Given the description of an element on the screen output the (x, y) to click on. 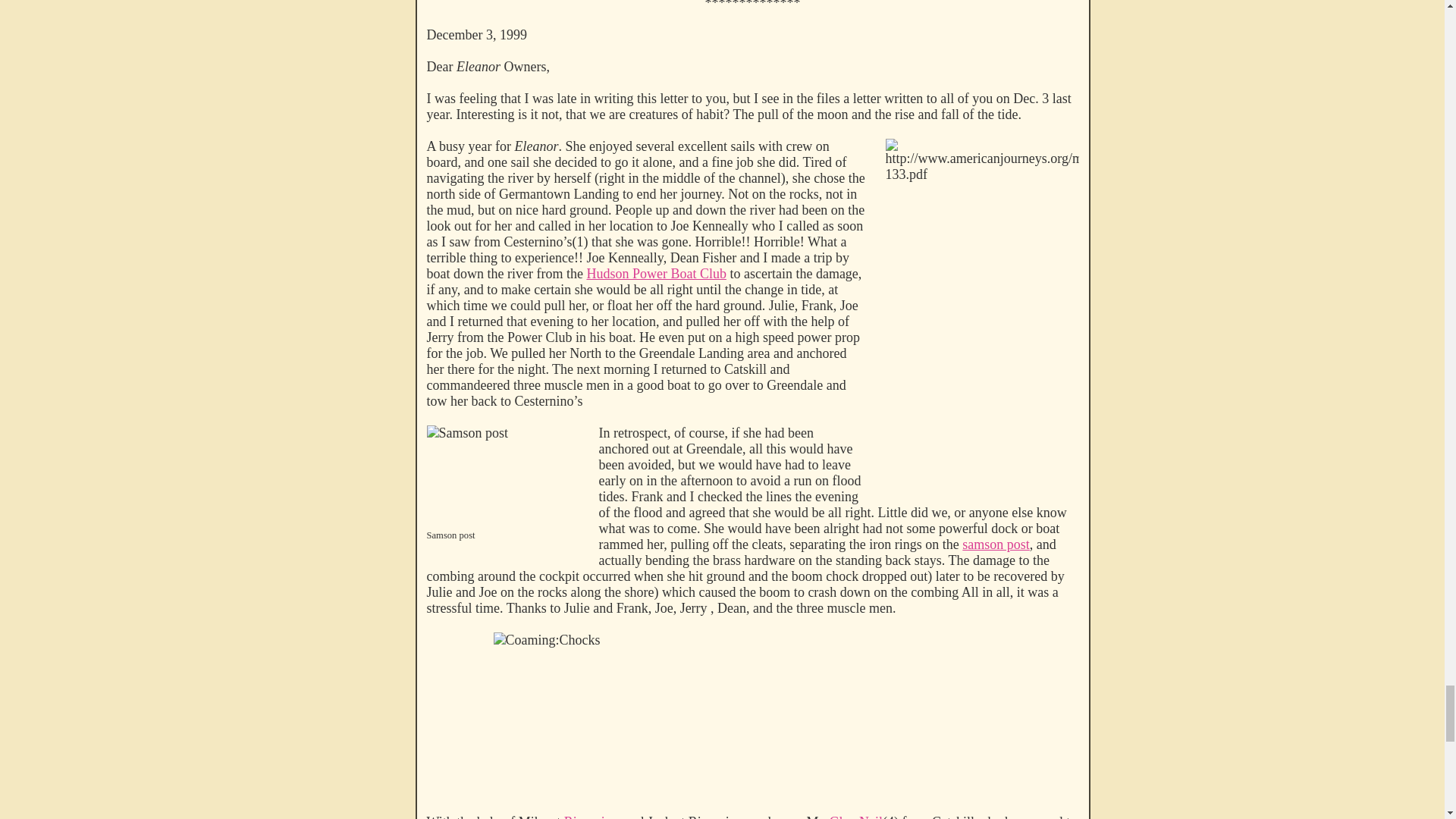
Glen Neil (855, 816)
Hudson Power Boat Club (656, 273)
Riverview (592, 816)
samson post (995, 544)
